Given the description of an element on the screen output the (x, y) to click on. 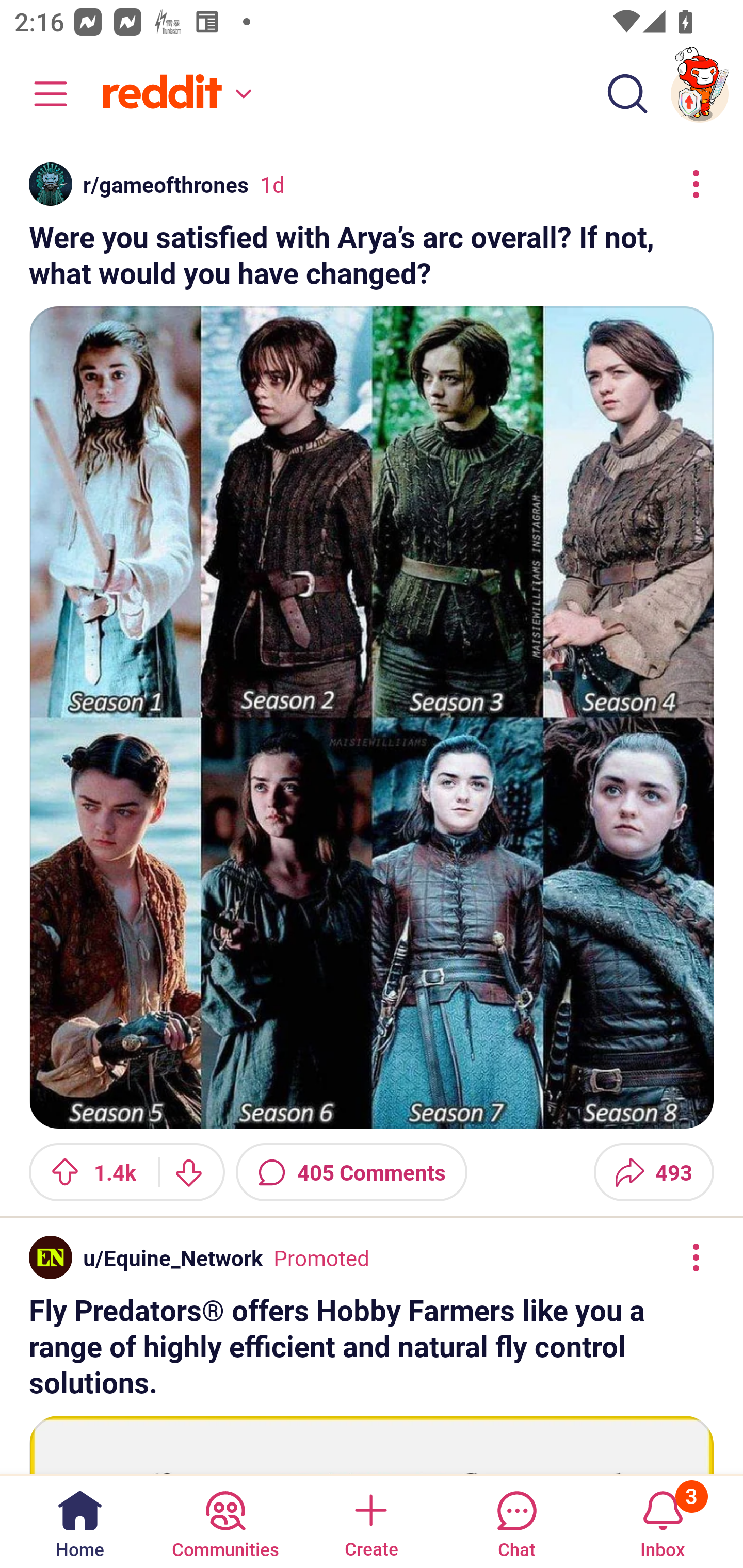
Search (626, 93)
TestAppium002 account (699, 93)
Community menu (41, 94)
Home feed (173, 94)
Home (80, 1520)
Communities (225, 1520)
Create a post Create (370, 1520)
Chat (516, 1520)
Inbox, has 3 notifications 3 Inbox (662, 1520)
